Given the description of an element on the screen output the (x, y) to click on. 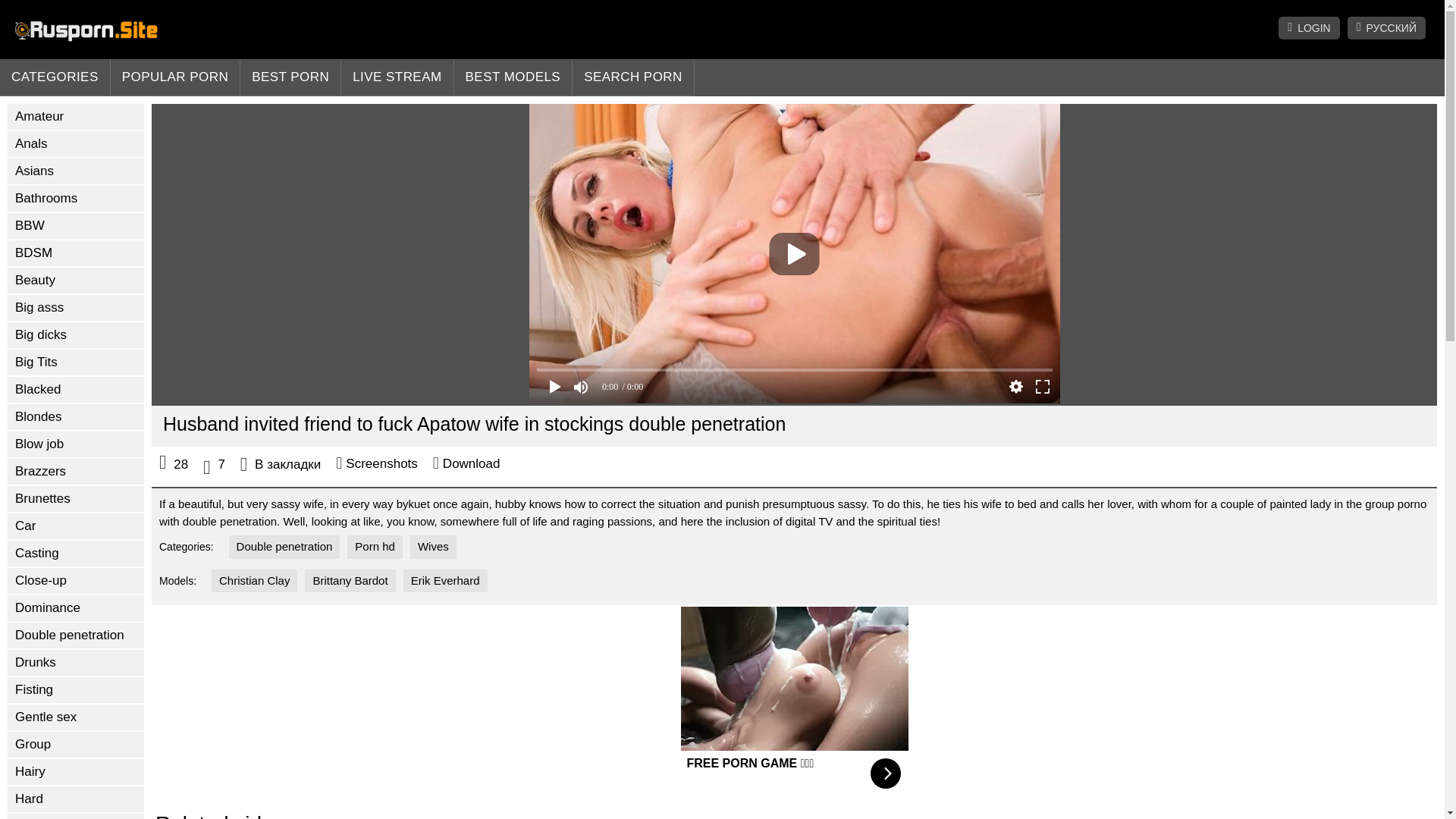
CATEGORIES (55, 77)
Brunettes (75, 498)
Car (75, 525)
BEST MODELS (513, 77)
Asians (75, 171)
Amateur (75, 116)
Dominance (75, 607)
LIVE STREAM (396, 77)
Blow job (75, 444)
Beauty (75, 280)
